Given the description of an element on the screen output the (x, y) to click on. 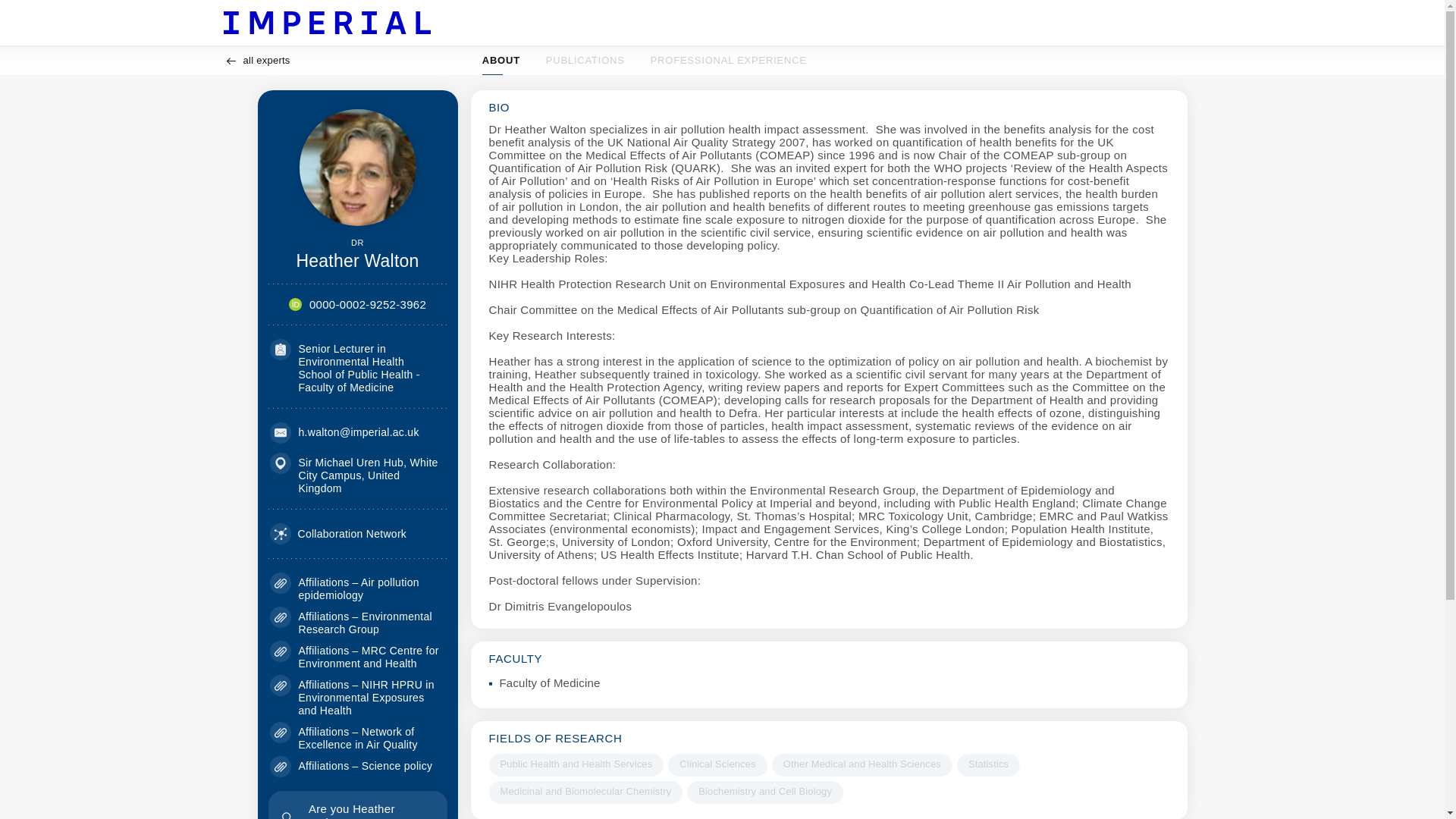
ABOUT (500, 60)
Public Health and Health Services (575, 764)
PUBLICATIONS (644, 60)
Other Medical and Health Sciences (585, 60)
Biochemistry and Cell Biology (861, 764)
Medicinal and Biomolecular Chemistry (765, 792)
PROFESSIONAL EXPERIENCE (584, 792)
0000-0002-9252-3962 (728, 60)
Clinical Sciences (367, 304)
all experts (717, 764)
Collaboration Network (255, 60)
Statistics (356, 805)
